Given the description of an element on the screen output the (x, y) to click on. 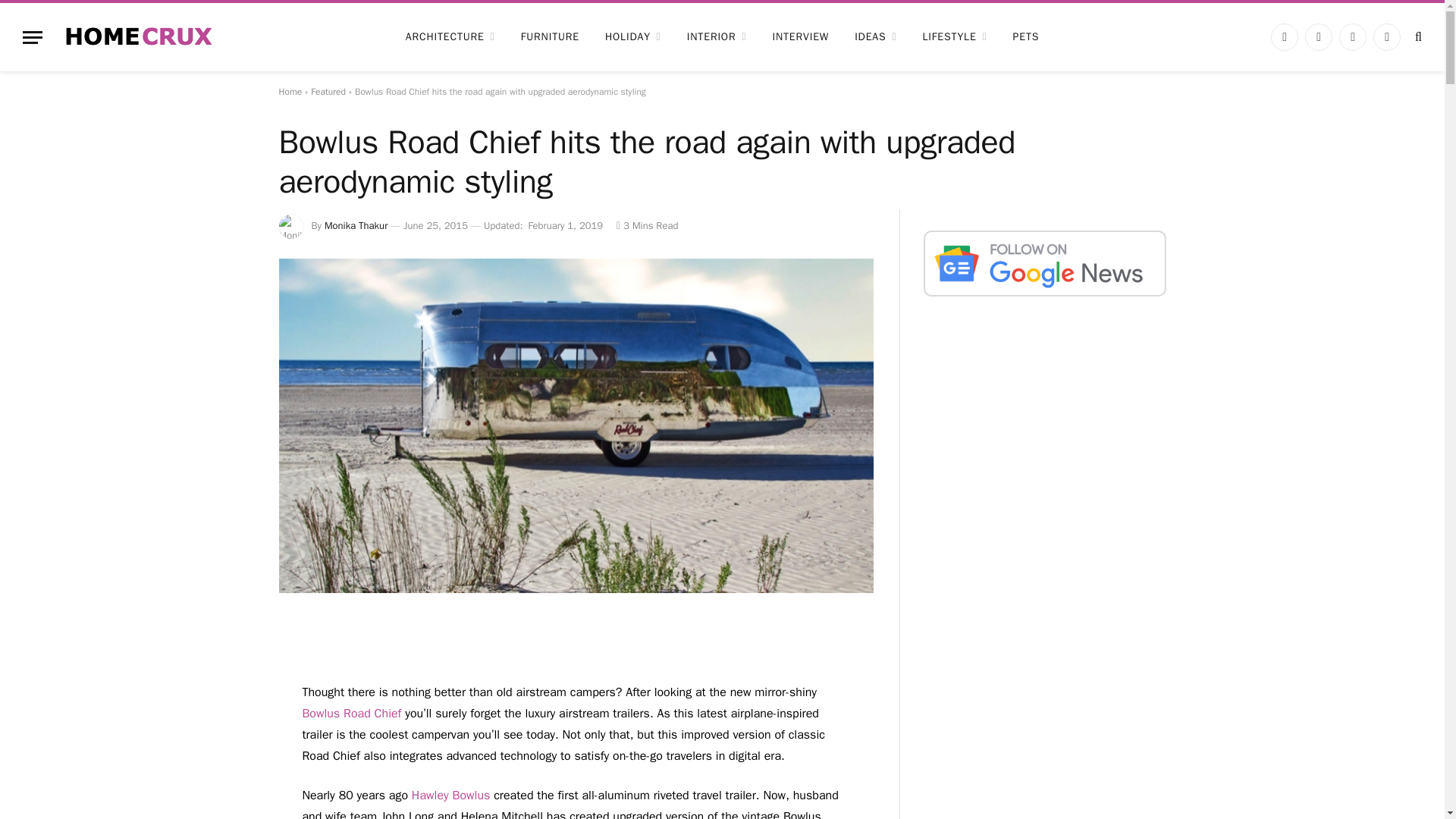
Homecrux (138, 36)
